Given the description of an element on the screen output the (x, y) to click on. 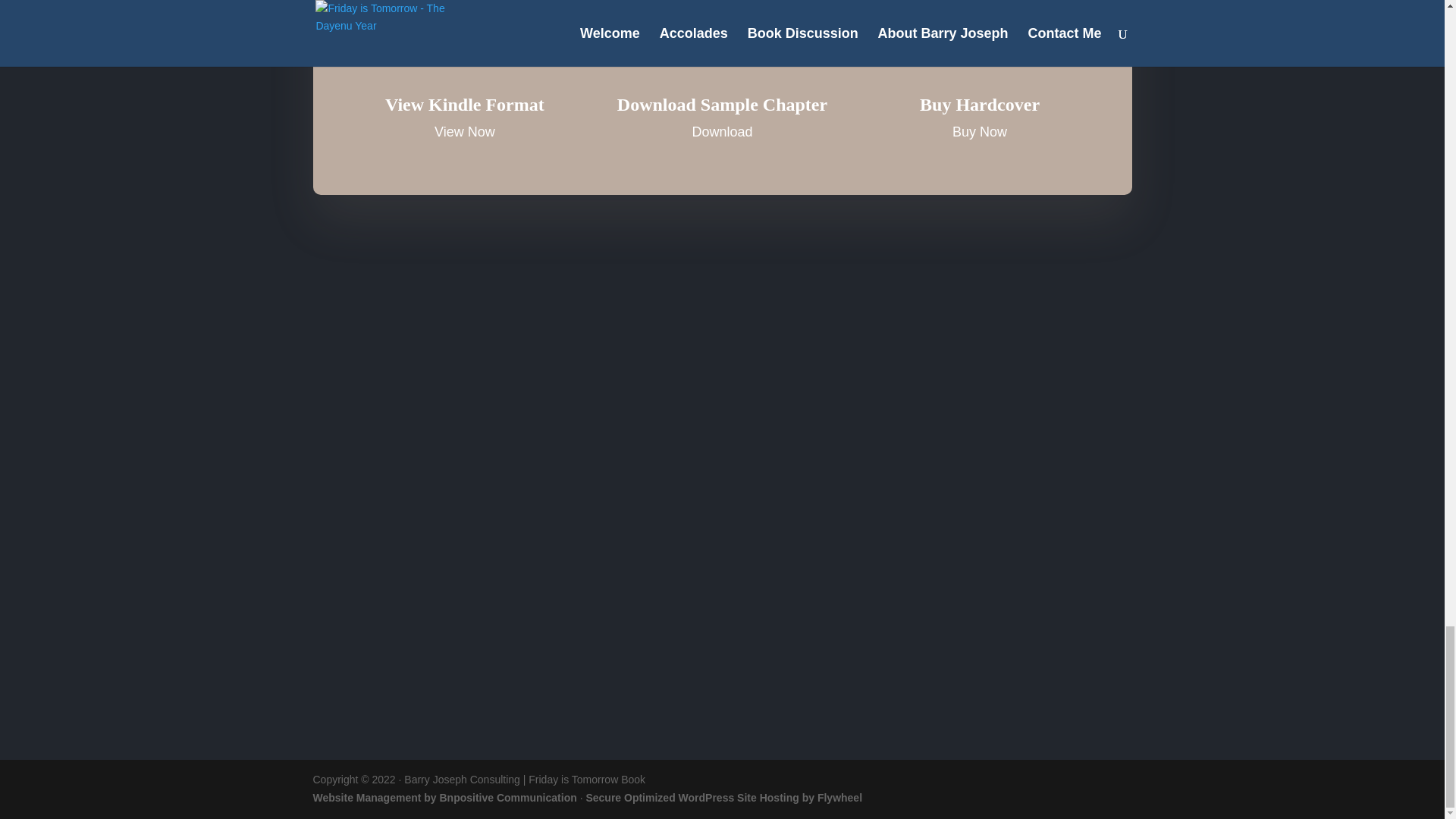
Buy Hardcover (979, 104)
Secure Optimized WordPress Site Hosting by Flywheel (723, 797)
View Kindle Format (464, 104)
Website Management by Bnpositive Communication (444, 797)
Website Management by Bnpositive Communication (444, 797)
Download Sample Chapter (722, 104)
Secure Optimized WordPress Site Hosting by Flywheel (723, 797)
